Given the description of an element on the screen output the (x, y) to click on. 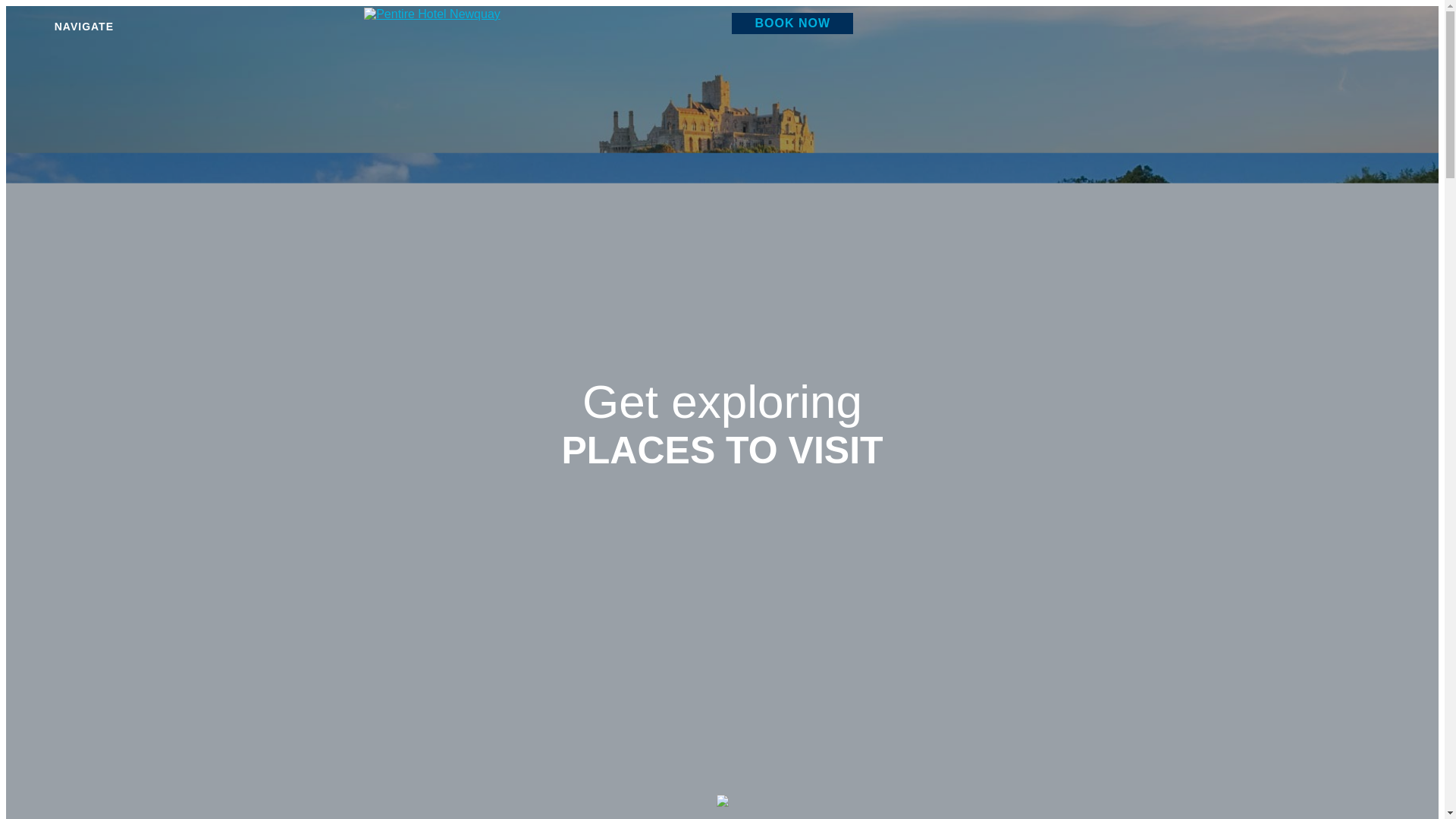
BOOK NOW (792, 23)
